Given the description of an element on the screen output the (x, y) to click on. 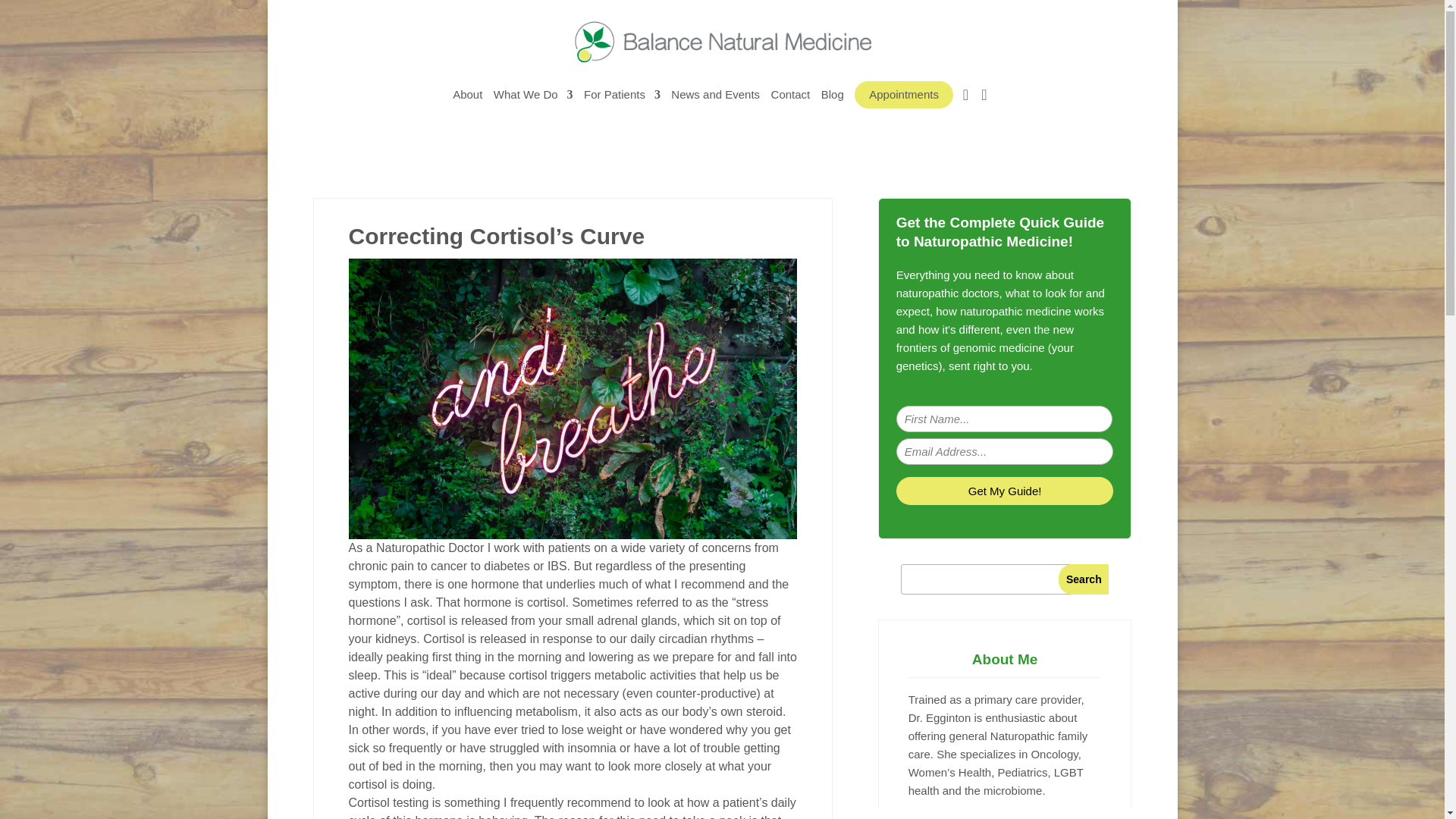
What We Do (533, 102)
For Patients (622, 102)
Get My Guide! (1004, 490)
About (466, 102)
Search (1083, 579)
Contact (790, 102)
News and Events (715, 102)
Appointments (903, 94)
Get My Guide! (1004, 490)
Search (1083, 579)
